Given the description of an element on the screen output the (x, y) to click on. 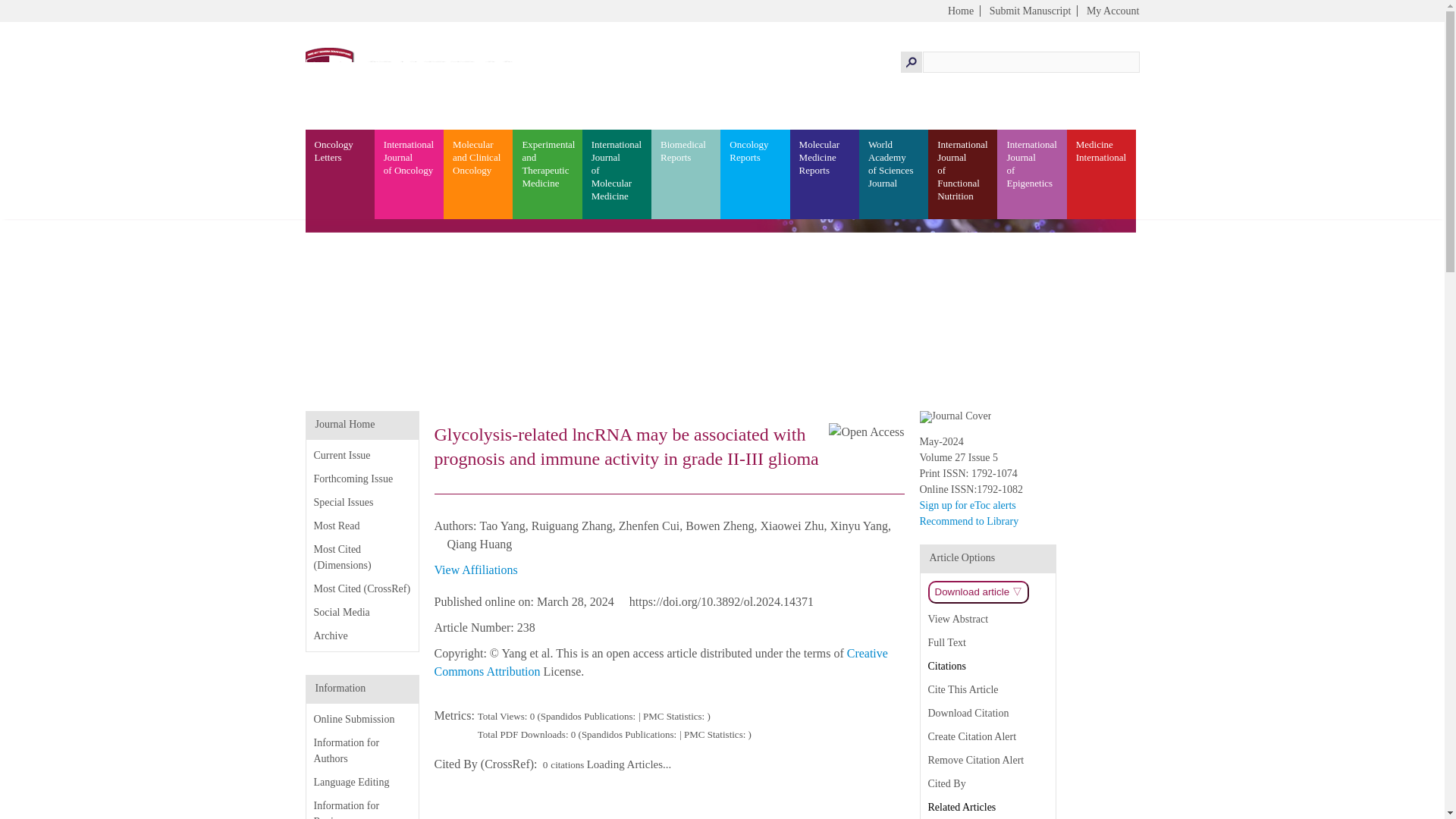
Advanced Search (1101, 45)
Submit Manuscript (1030, 10)
Special Issues (344, 501)
Journal Home (345, 423)
Social Media (341, 612)
Home (960, 10)
Archive (330, 635)
Current Issue (342, 455)
The metrics are calculated only from this site (455, 715)
The metrics are calculated only from this site (523, 734)
